Given the description of an element on the screen output the (x, y) to click on. 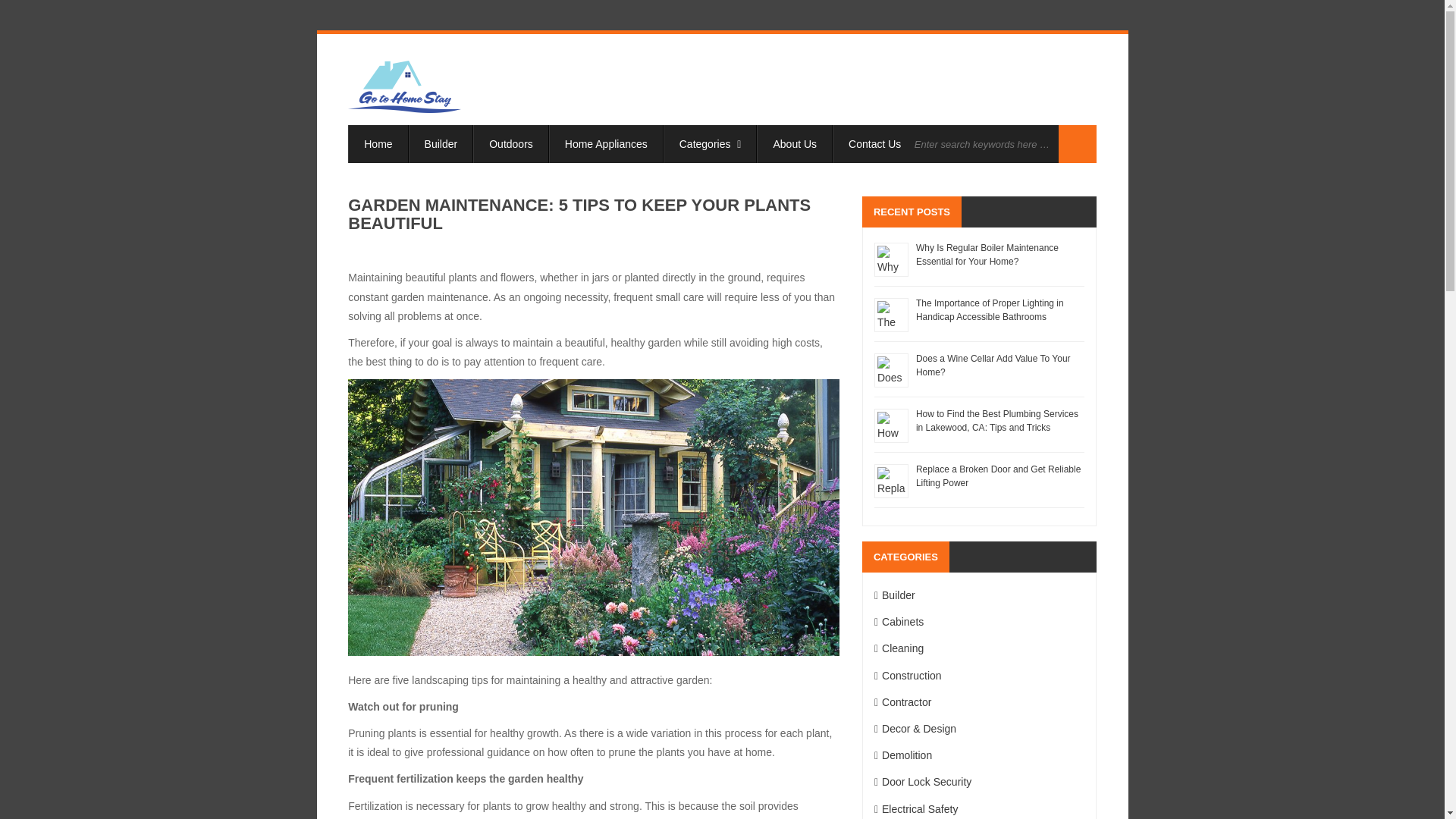
Home Appliances (605, 143)
Outdoors (510, 143)
Contact Us (874, 143)
Advertise with Us (973, 143)
Categories (710, 143)
Search for: (982, 143)
Home (377, 143)
About Us (794, 143)
Builder (441, 143)
